Given the description of an element on the screen output the (x, y) to click on. 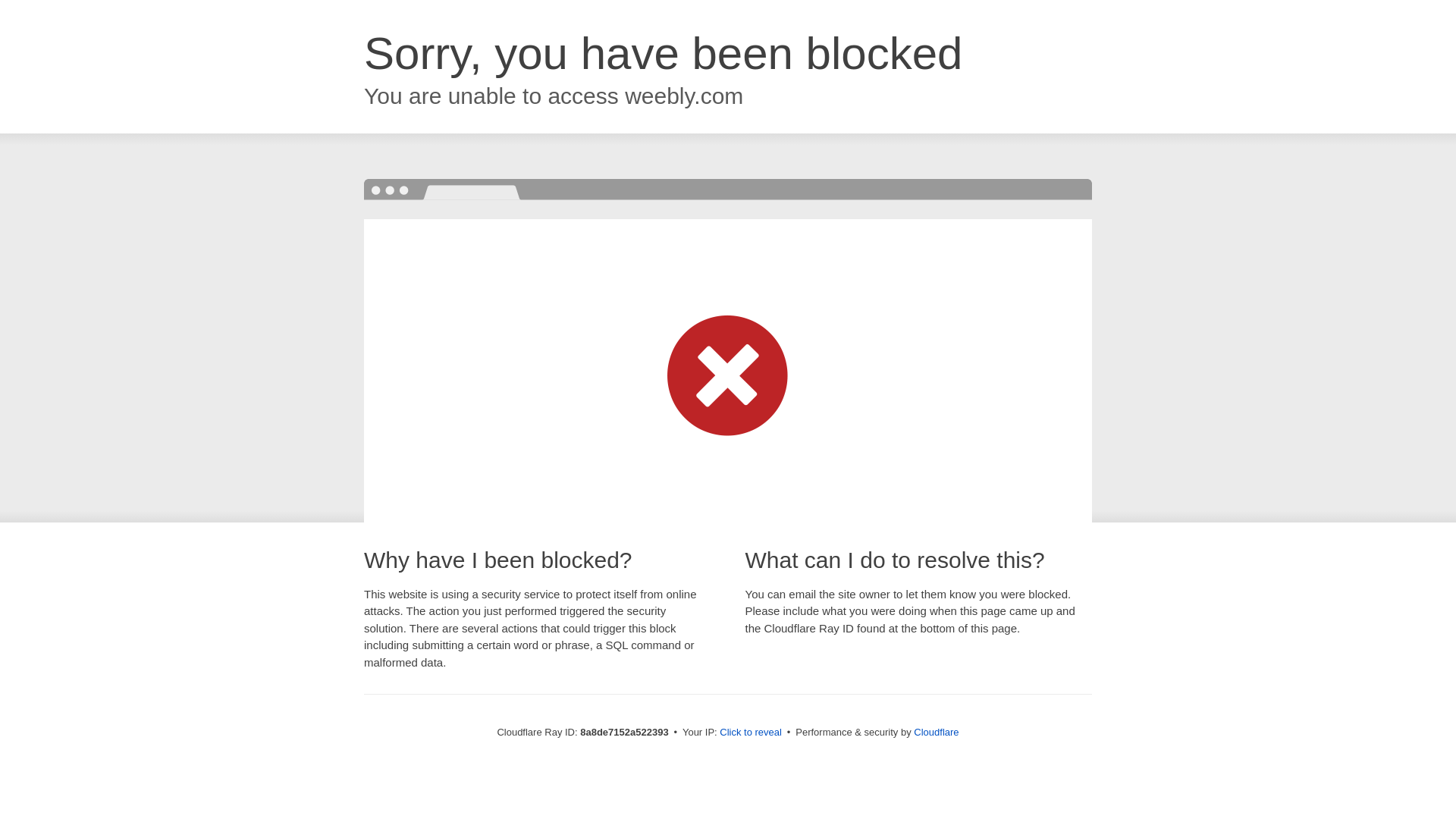
Click to reveal (750, 732)
Cloudflare (936, 731)
